Given the description of an element on the screen output the (x, y) to click on. 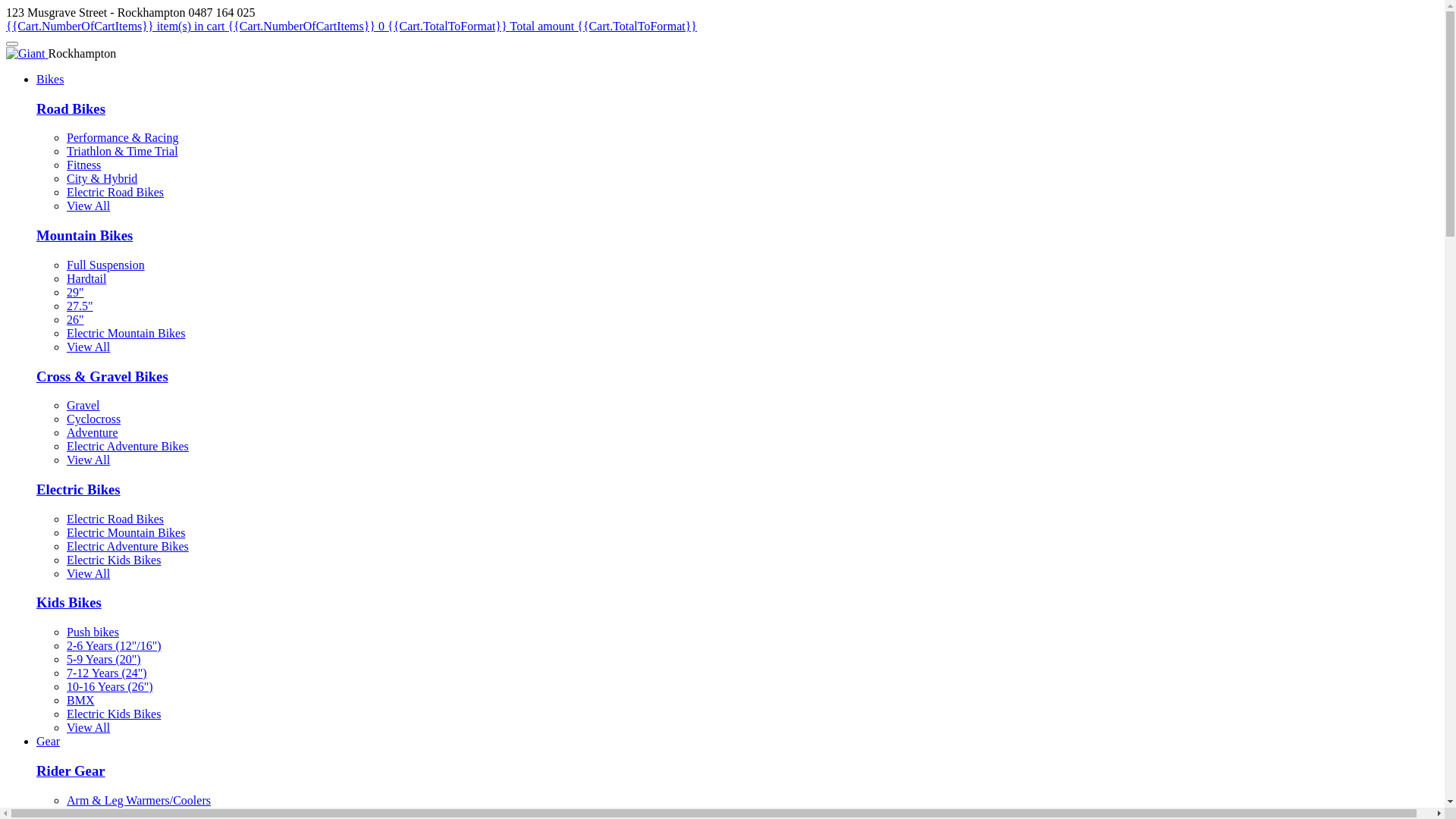
Gear Element type: text (47, 740)
Cross & Gravel Bikes Element type: text (102, 376)
Electric Road Bikes Element type: text (114, 518)
Electric Mountain Bikes Element type: text (125, 532)
Electric Road Bikes Element type: text (114, 191)
Cyclocross Element type: text (93, 418)
View All Element type: text (87, 573)
Road Bikes Element type: text (70, 108)
Push bikes Element type: text (92, 631)
Electric Bikes Element type: text (78, 489)
View All Element type: text (87, 727)
Electric Kids Bikes Element type: text (113, 559)
Adventure Element type: text (92, 432)
Electric Adventure Bikes Element type: text (127, 445)
View All Element type: text (87, 459)
Mountain Bikes Element type: text (84, 235)
Bikes Element type: text (49, 78)
2-6 Years (12"/16") Element type: text (113, 645)
Fitness Element type: text (83, 164)
Hardtail Element type: text (86, 278)
Triathlon & Time Trial Element type: text (122, 150)
Electric Adventure Bikes Element type: text (127, 545)
Electric Mountain Bikes Element type: text (125, 332)
City & Hybrid Element type: text (101, 178)
Electric Kids Bikes Element type: text (113, 713)
5-9 Years (20") Element type: text (103, 658)
View All Element type: text (87, 205)
Kids Bikes Element type: text (68, 602)
Performance & Racing Element type: text (122, 137)
Full Suspension Element type: text (105, 264)
29" Element type: text (75, 291)
Rider Gear Element type: text (70, 770)
BMX Element type: text (80, 699)
View All Element type: text (87, 346)
7-12 Years (24") Element type: text (106, 672)
27.5" Element type: text (79, 305)
Arm & Leg Warmers/Coolers Element type: text (138, 799)
Gravel Element type: text (83, 404)
10-16 Years (26") Element type: text (109, 686)
26" Element type: text (75, 319)
